Given the description of an element on the screen output the (x, y) to click on. 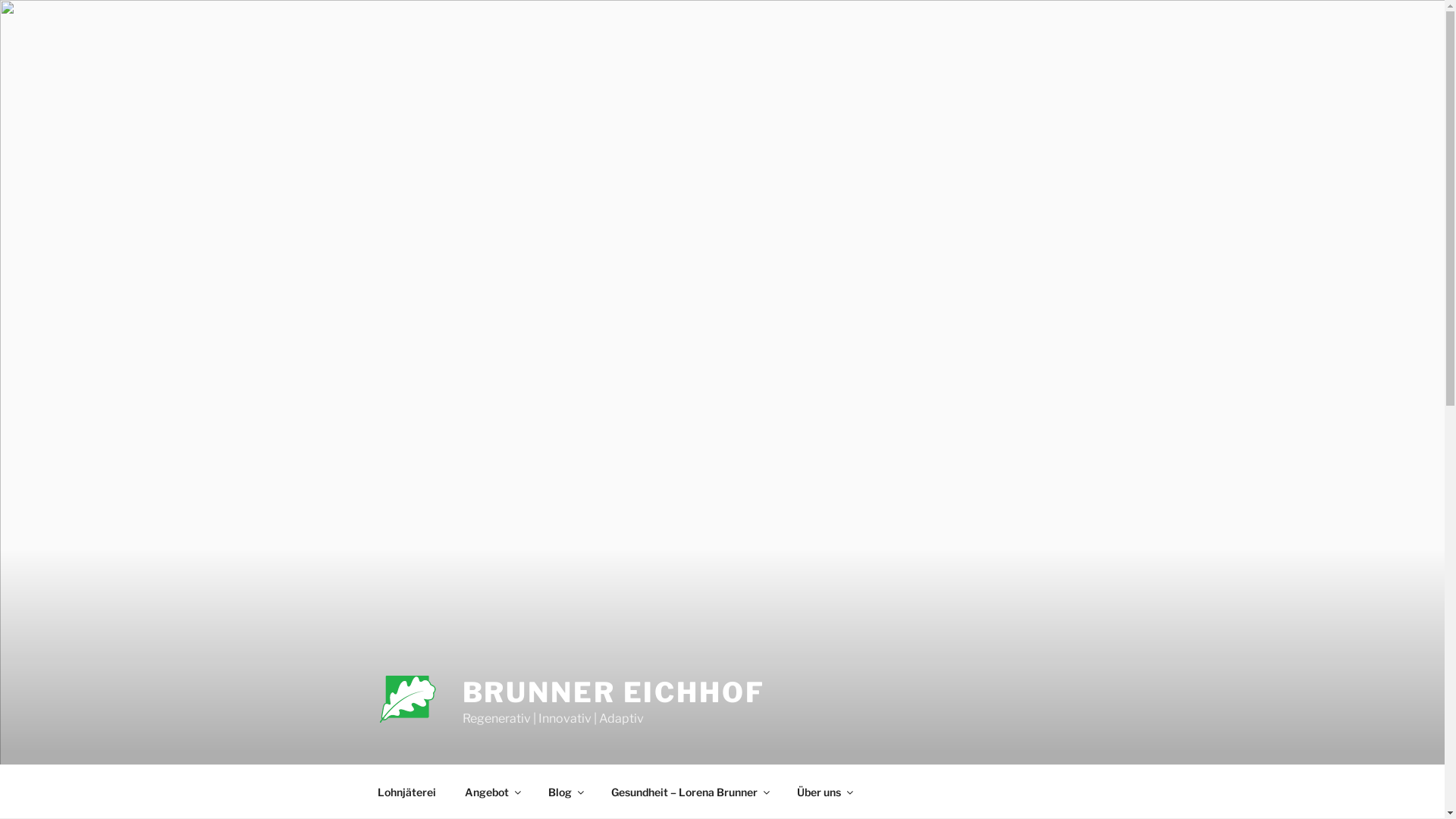
BRUNNER EICHHOF Element type: text (613, 692)
Angebot Element type: text (492, 791)
Blog Element type: text (565, 791)
